Given the description of an element on the screen output the (x, y) to click on. 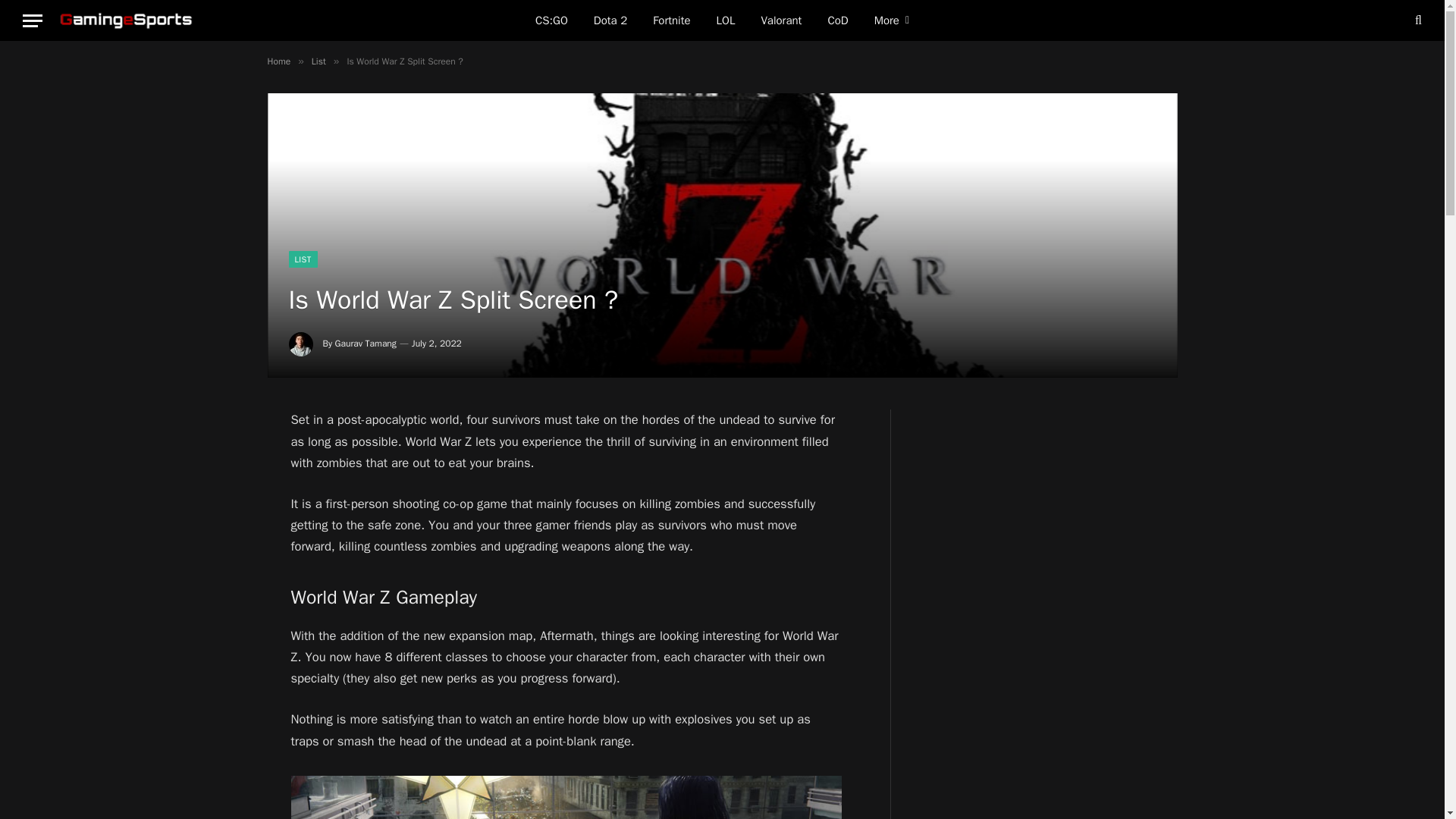
Dota 2 (610, 20)
Gaming eSports (126, 20)
CS:GO (551, 20)
Posts by Gaurav Tamang (365, 343)
List (318, 61)
More (891, 20)
LIST (302, 258)
Home (277, 61)
Fortnite (671, 20)
